Given the description of an element on the screen output the (x, y) to click on. 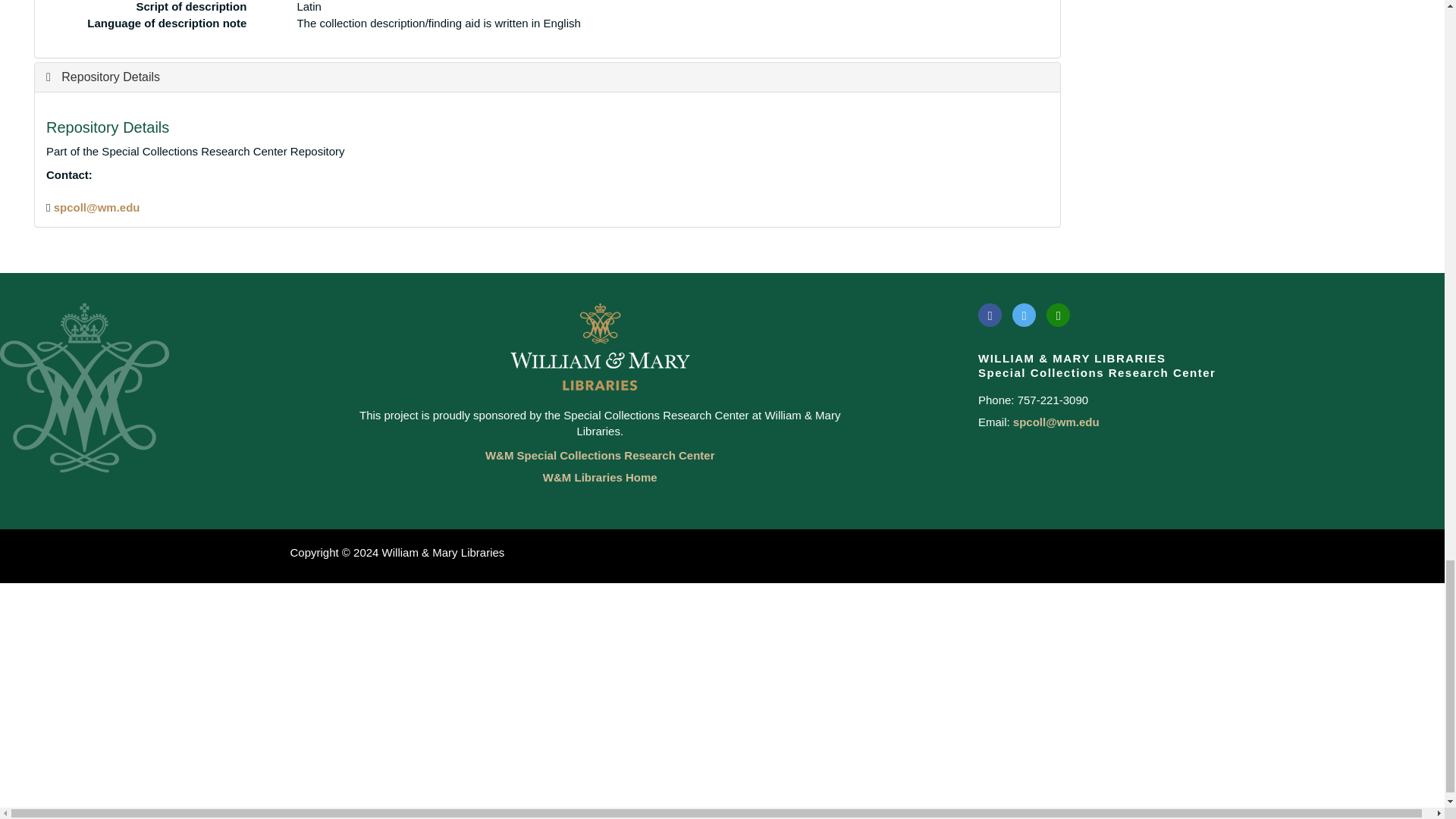
Send email (96, 206)
Special Collections Facebook (989, 314)
Special Collections Twitter (1023, 314)
Special Collections Blog (1058, 314)
